Given the description of an element on the screen output the (x, y) to click on. 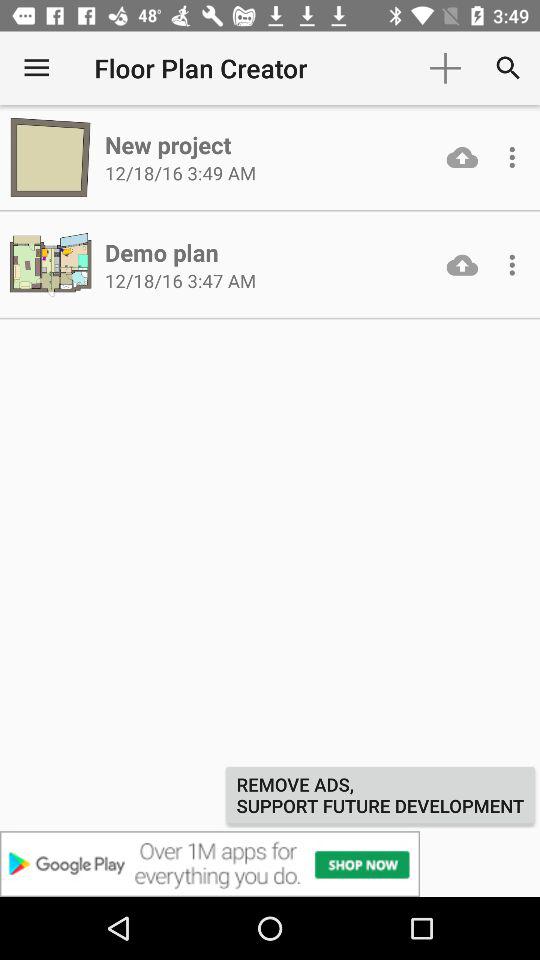
upload demo plan project (462, 264)
